Given the description of an element on the screen output the (x, y) to click on. 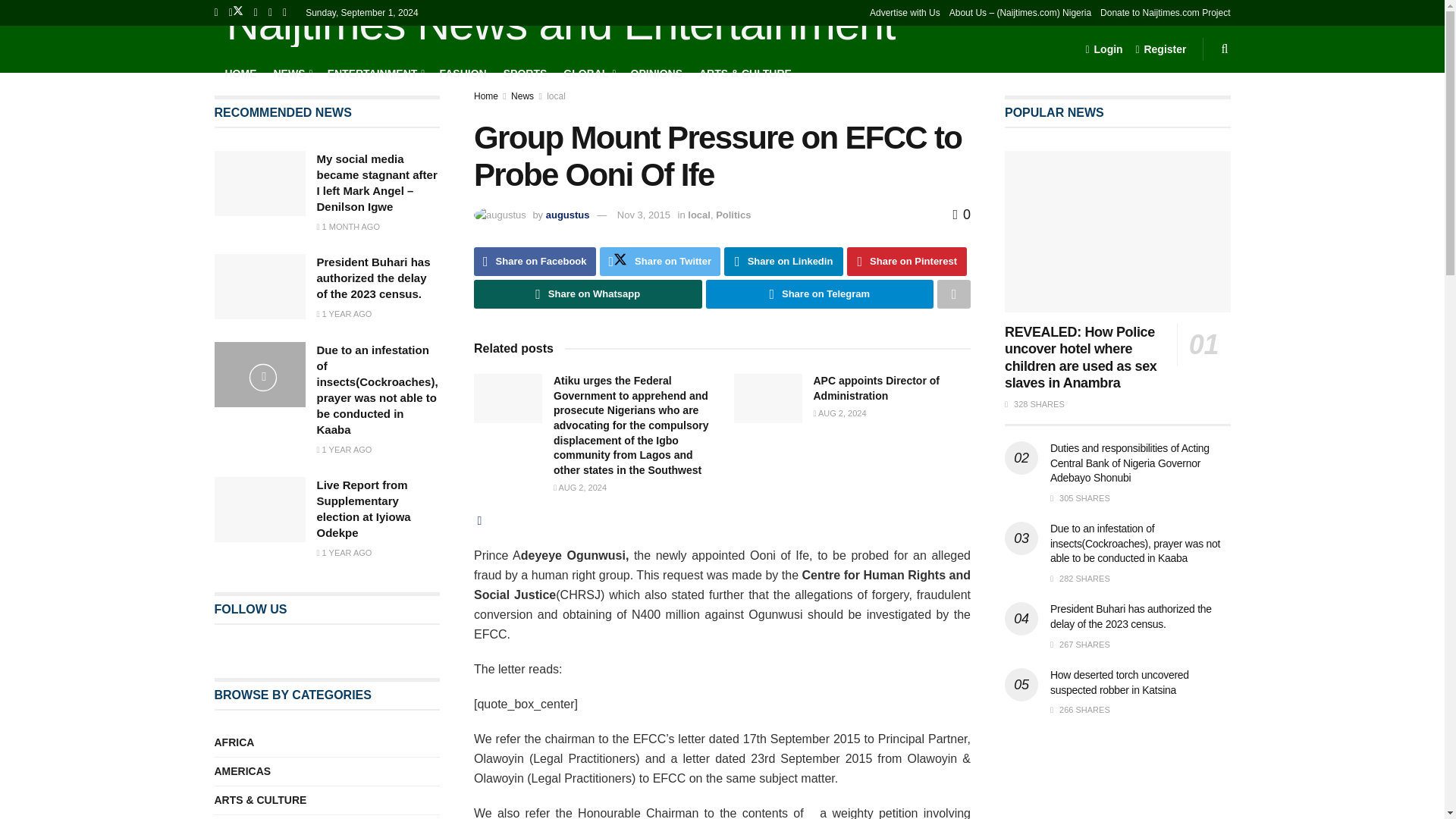
Donate to Naijtimes.com Project (1165, 12)
augustus (567, 214)
Nov 3, 2015 (643, 214)
OPINIONS (656, 73)
local (556, 95)
Advertise with Us (904, 12)
Register (1160, 48)
SPORTS (525, 73)
FASHION (462, 73)
News (522, 95)
